Given the description of an element on the screen output the (x, y) to click on. 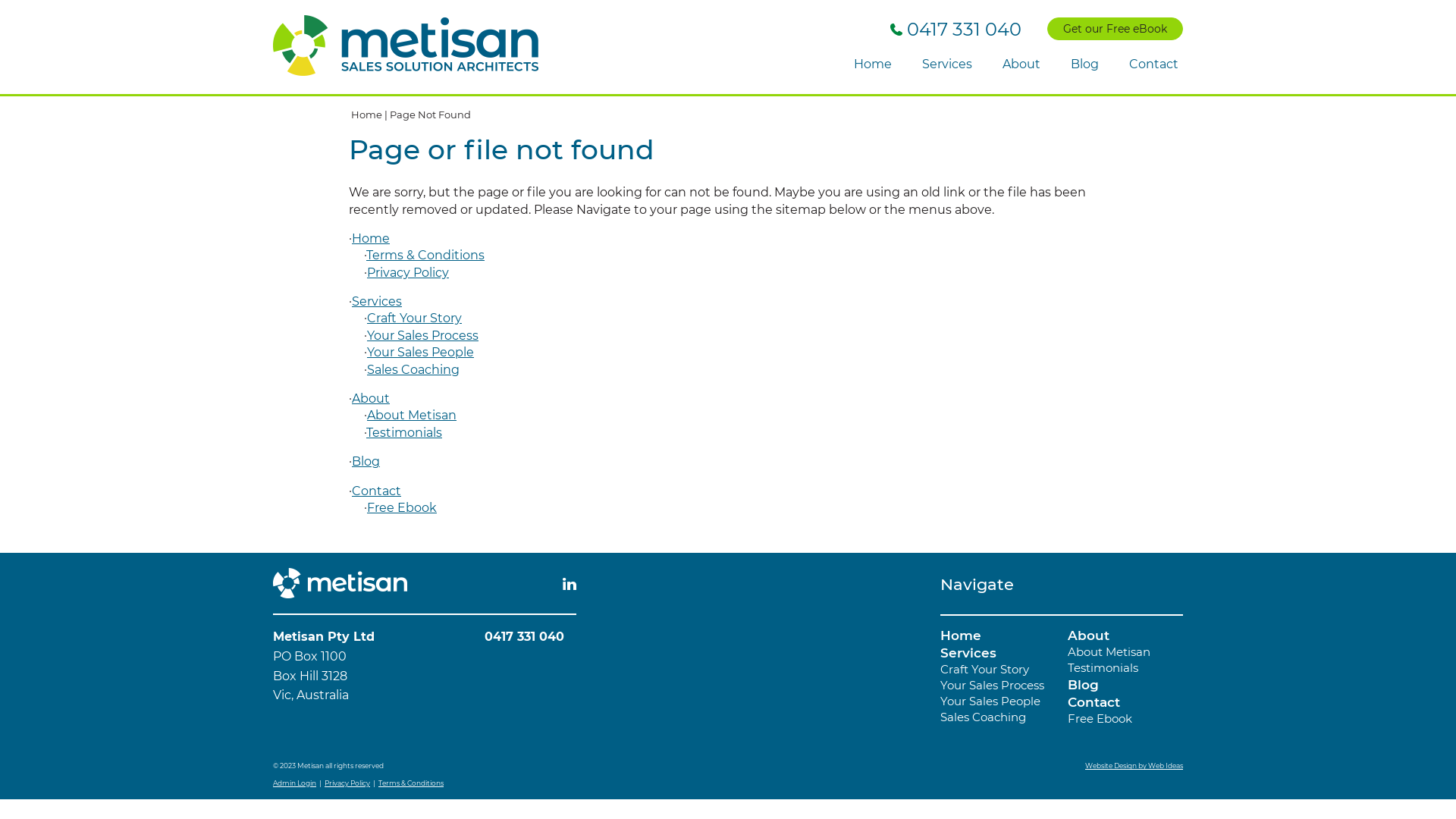
Services Element type: text (946, 65)
Contact Element type: text (1153, 65)
Contact Element type: text (376, 490)
Home Element type: text (370, 238)
Get our Free eBook Element type: text (1115, 28)
Page Not Found Element type: text (429, 114)
Your Sales People Element type: text (420, 352)
Your Sales Process Element type: text (992, 684)
Privacy Policy Element type: text (347, 782)
Home Element type: text (960, 635)
About Element type: text (370, 398)
Blog Element type: text (1082, 684)
Services Element type: text (968, 652)
Craft Your Story Element type: text (984, 669)
Contact Element type: text (1093, 701)
Terms & Conditions Element type: text (410, 782)
About Element type: text (1020, 65)
Home Element type: text (872, 65)
Services Element type: text (376, 301)
Free Ebook Element type: text (1099, 718)
About Element type: text (1088, 635)
Blog Element type: text (1084, 65)
About Metisan Element type: text (411, 414)
Craft Your Story Element type: text (414, 317)
Terms & Conditions Element type: text (425, 254)
Your Sales Process Element type: text (422, 335)
About Metisan Element type: text (1108, 651)
Free Ebook Element type: text (401, 507)
Admin Login Element type: text (294, 782)
Testimonials Element type: text (404, 432)
Sales Coaching Element type: text (413, 369)
Website Design by Web Ideas Element type: text (1134, 765)
Home Element type: text (366, 114)
0417 331 040 Element type: text (524, 636)
Privacy Policy Element type: text (407, 272)
Testimonials Element type: text (1102, 667)
Your Sales People Element type: text (990, 700)
Blog Element type: text (365, 461)
0417 331 040 Element type: text (955, 29)
Sales Coaching Element type: text (983, 716)
